Given the description of an element on the screen output the (x, y) to click on. 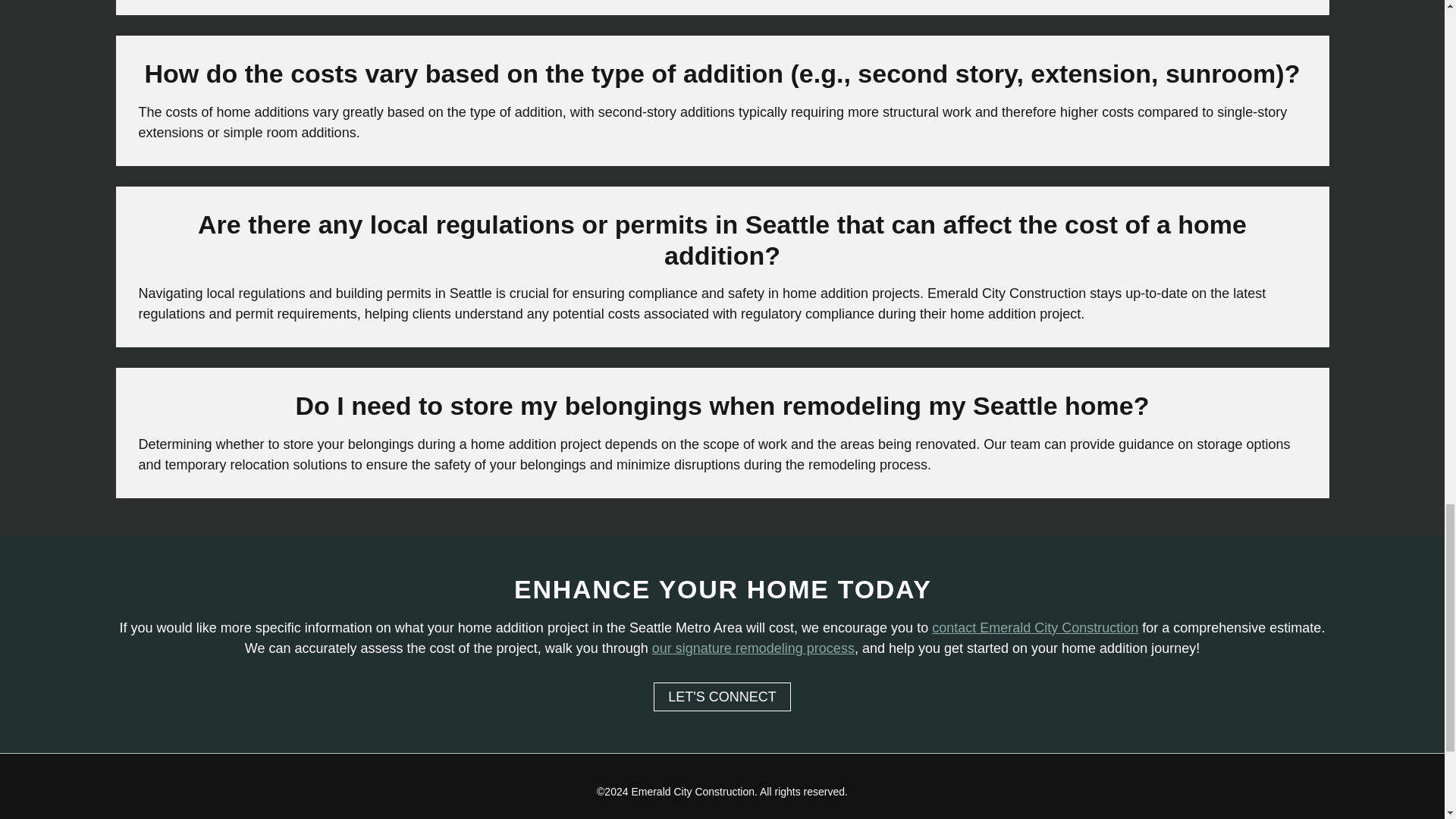
our signature remodeling process (753, 648)
contact Emerald City Construction (1034, 627)
LET'S CONNECT (721, 696)
